Given the description of an element on the screen output the (x, y) to click on. 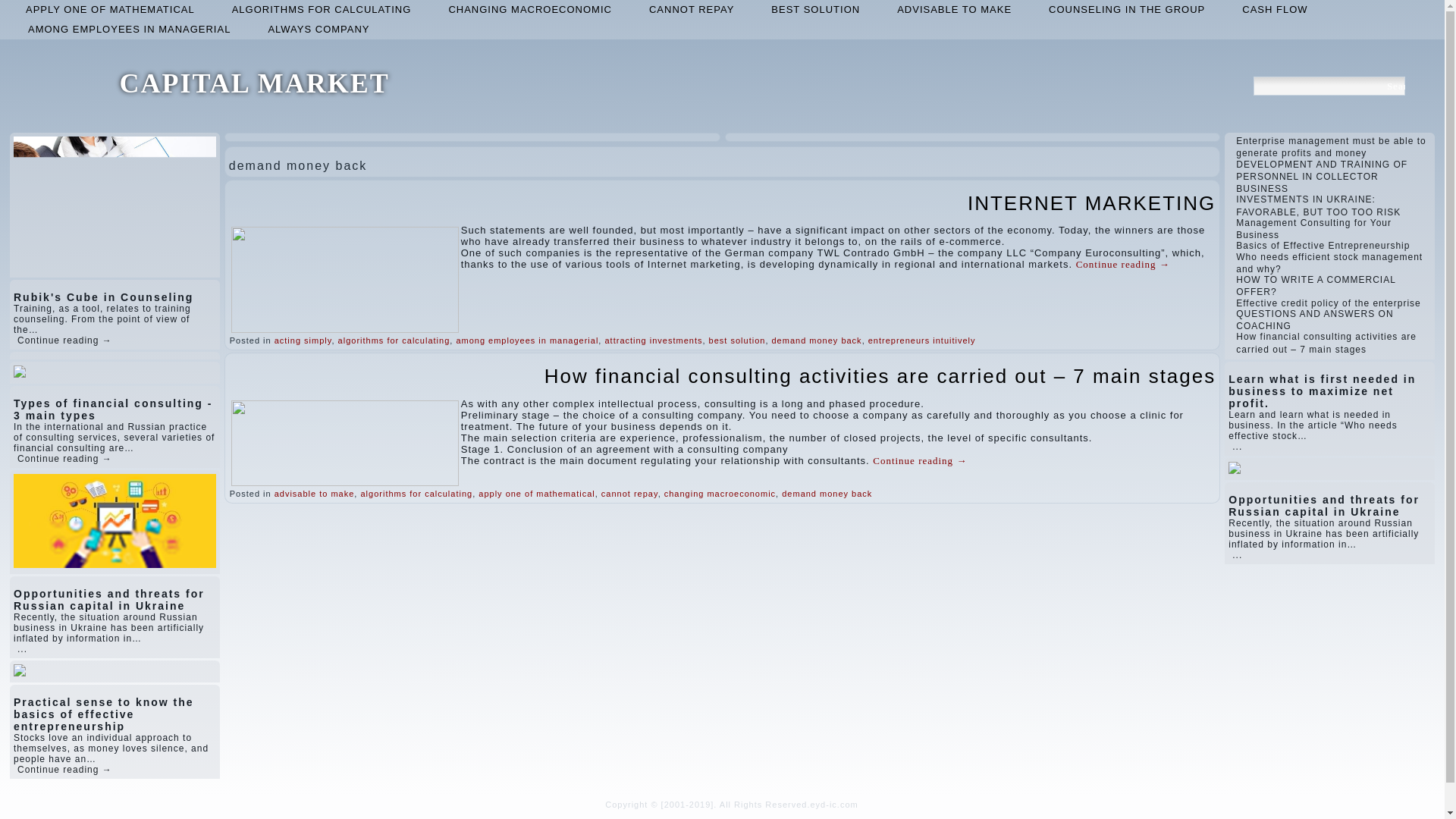
attracting investments (652, 339)
ALGORITHMS FOR CALCULATING (321, 9)
changing macroeconomic (719, 492)
HOW TO WRITE A COMMERCIAL OFFER? (1315, 285)
cannot repay (629, 492)
demand money back (826, 492)
BEST SOLUTION (815, 9)
best solution (815, 9)
algorithms for calculating (321, 9)
algorithms for calculating (393, 339)
